Given the description of an element on the screen output the (x, y) to click on. 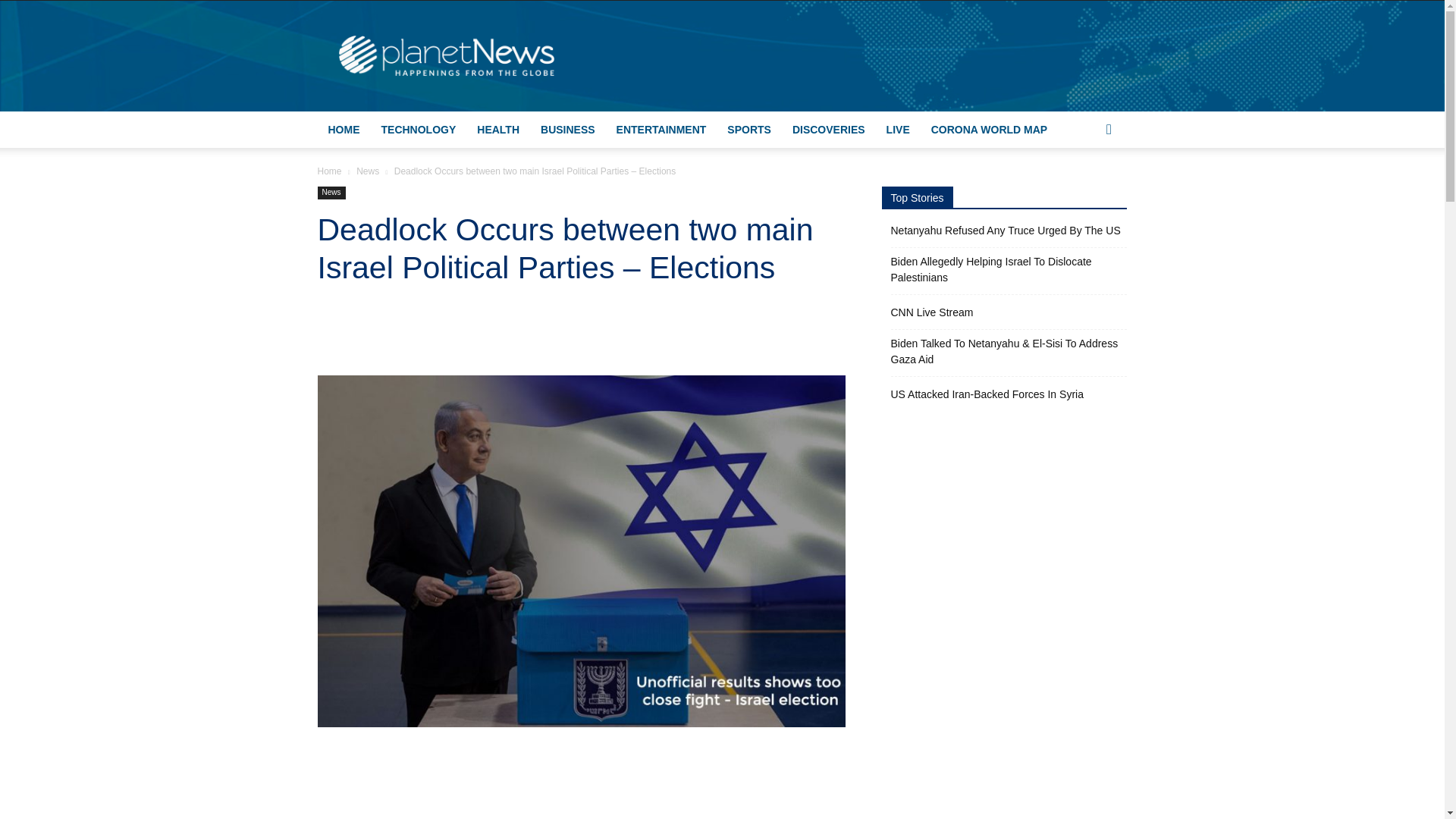
ENTERTAINMENT (661, 129)
CORONA WORLD MAP (989, 129)
HOME (343, 129)
SPORTS (748, 129)
TECHNOLOGY (417, 129)
News (331, 192)
DISCOVERIES (828, 129)
Advertisement (581, 782)
HEALTH (497, 129)
Search (1085, 190)
